Given the description of an element on the screen output the (x, y) to click on. 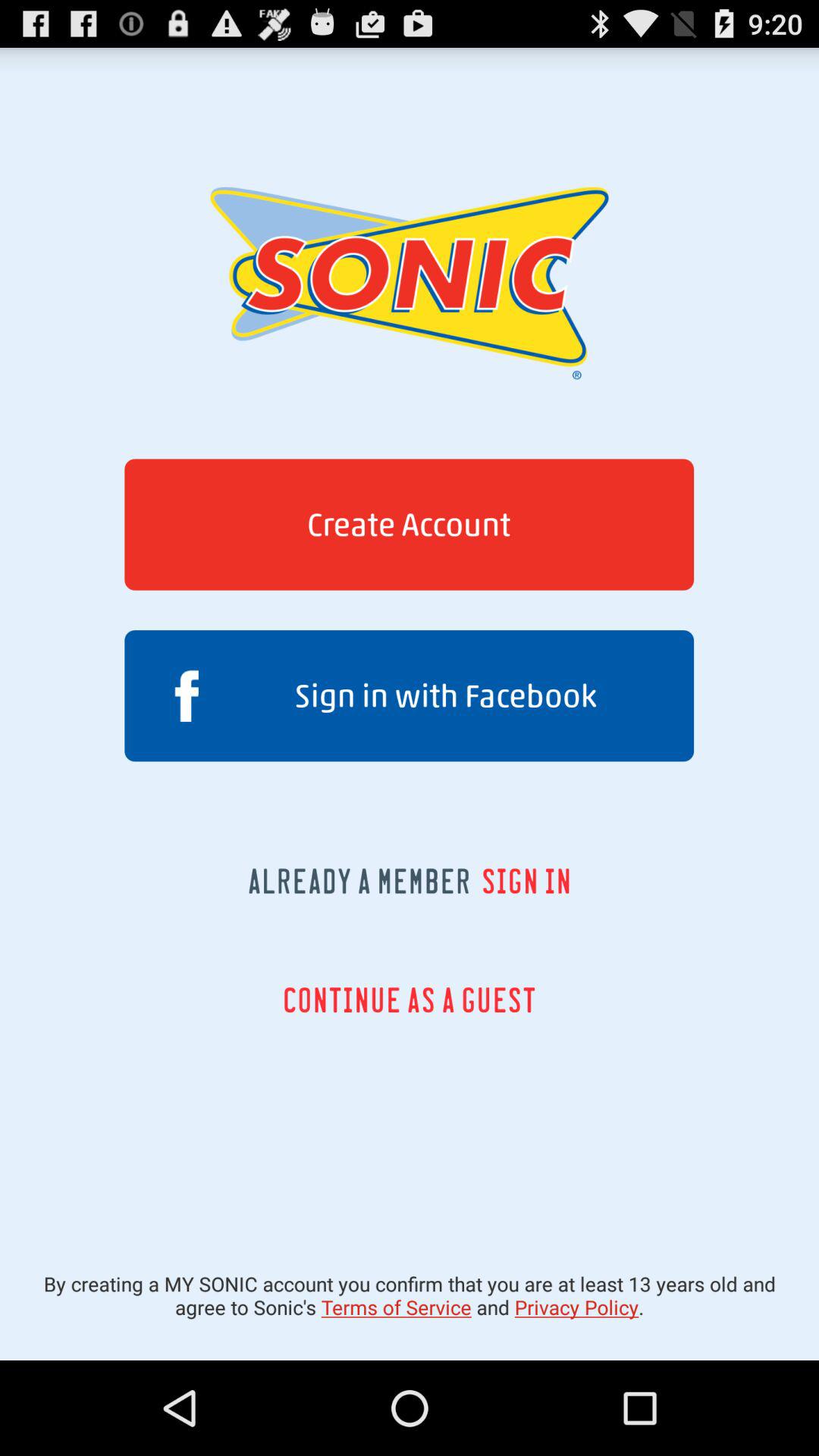
press the button above sign in with item (408, 524)
